Given the description of an element on the screen output the (x, y) to click on. 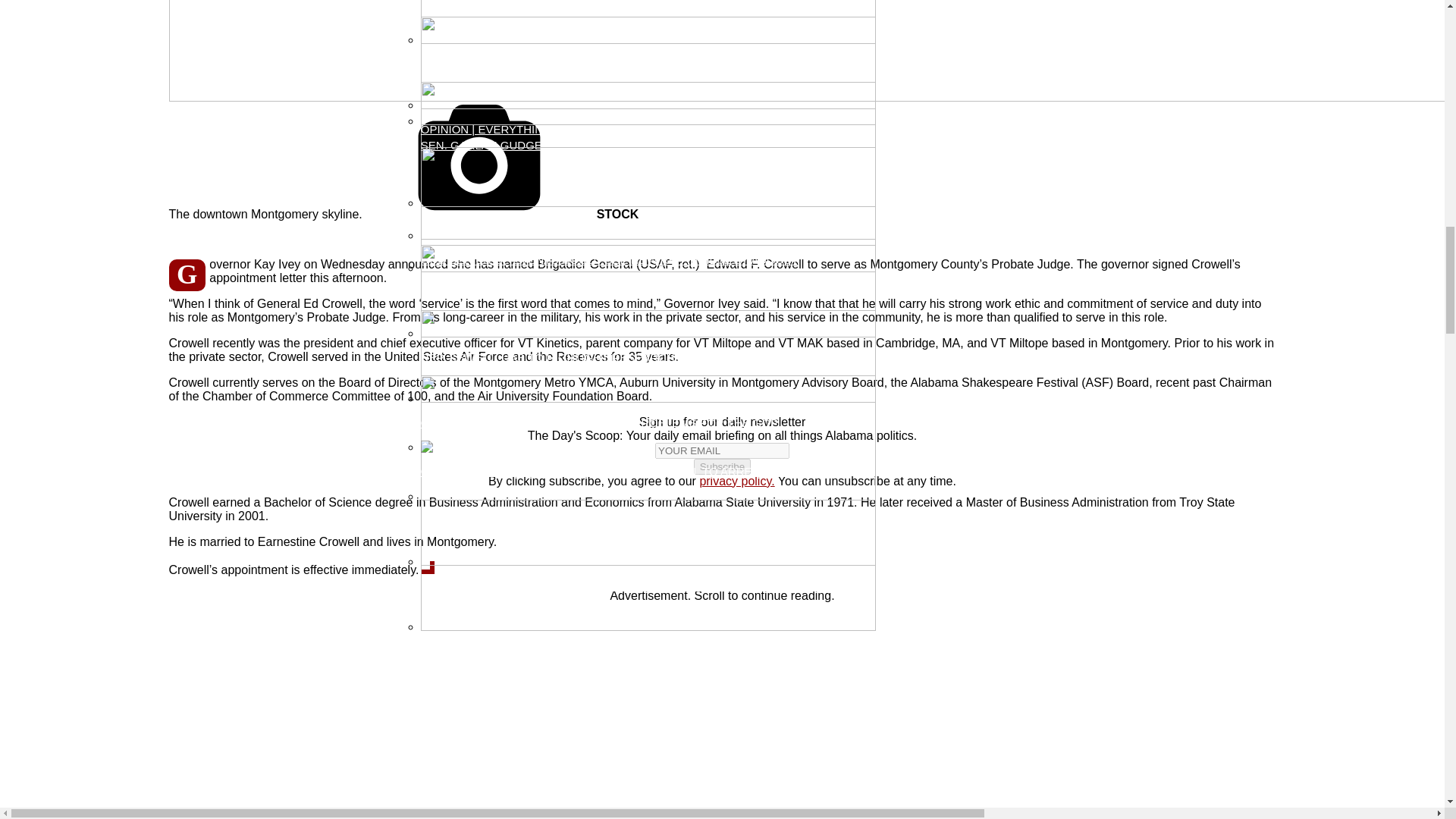
Subscribe (722, 466)
